Given the description of an element on the screen output the (x, y) to click on. 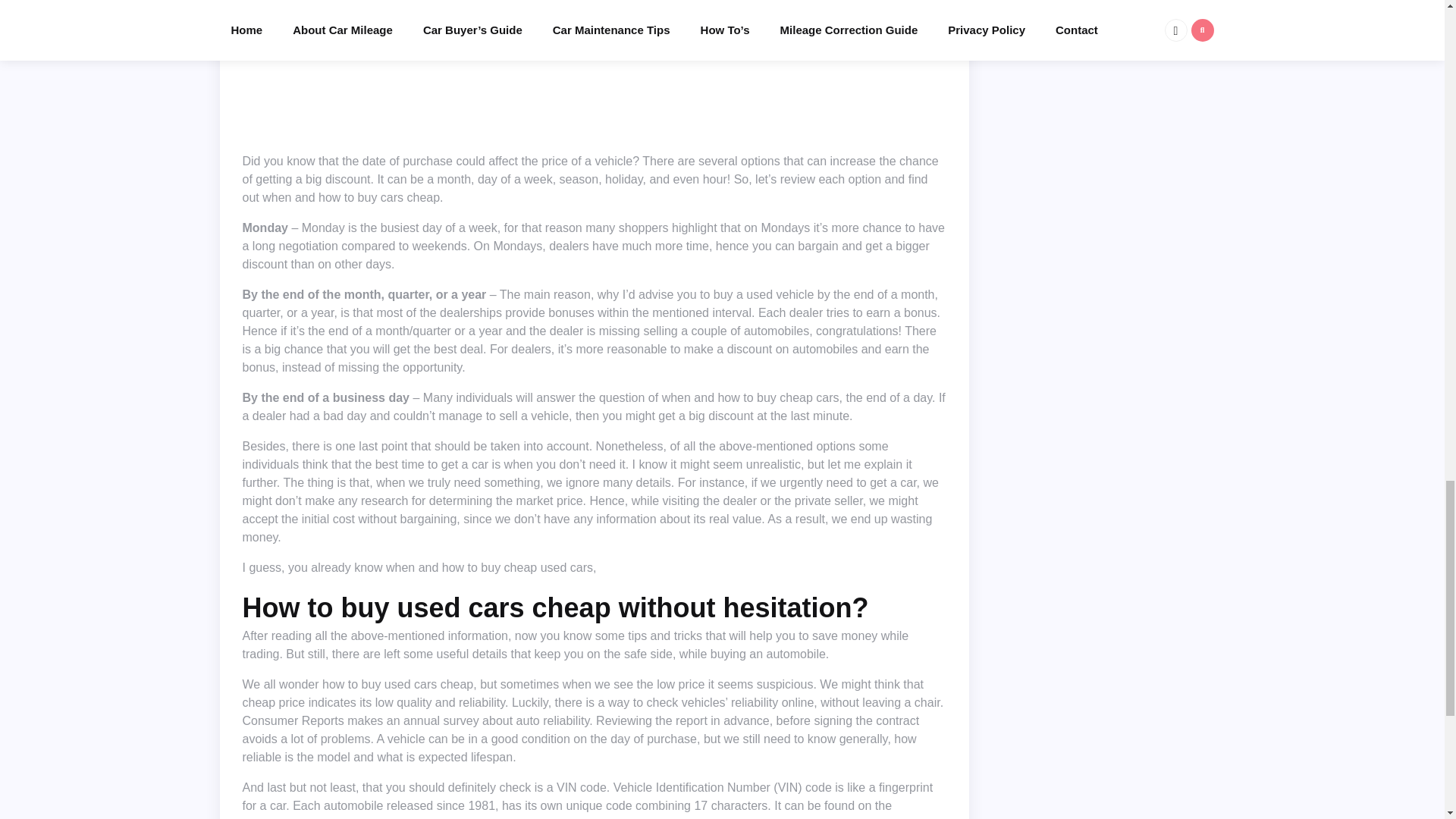
report (691, 720)
